Given the description of an element on the screen output the (x, y) to click on. 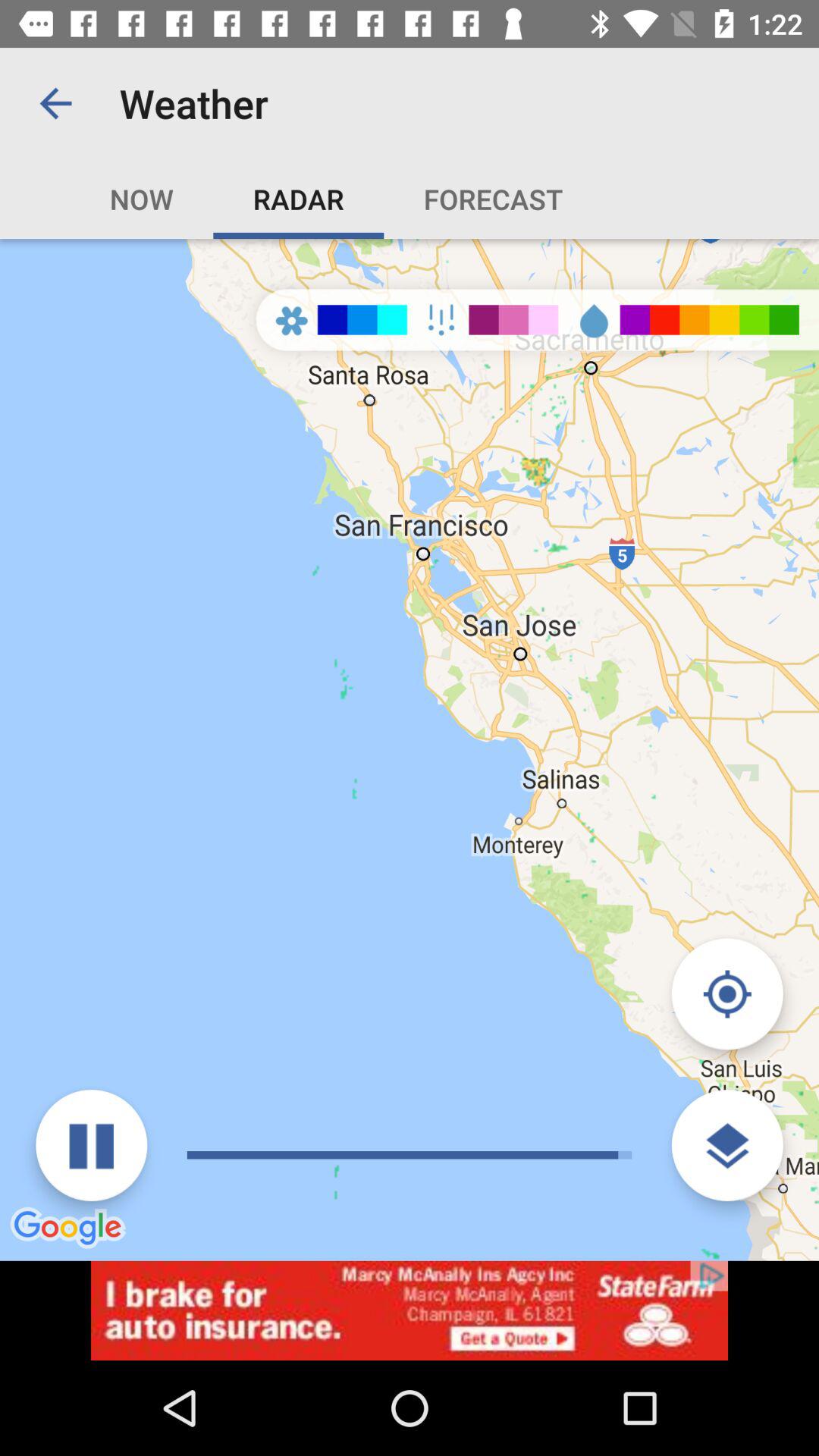
open layers (727, 1145)
